Given the description of an element on the screen output the (x, y) to click on. 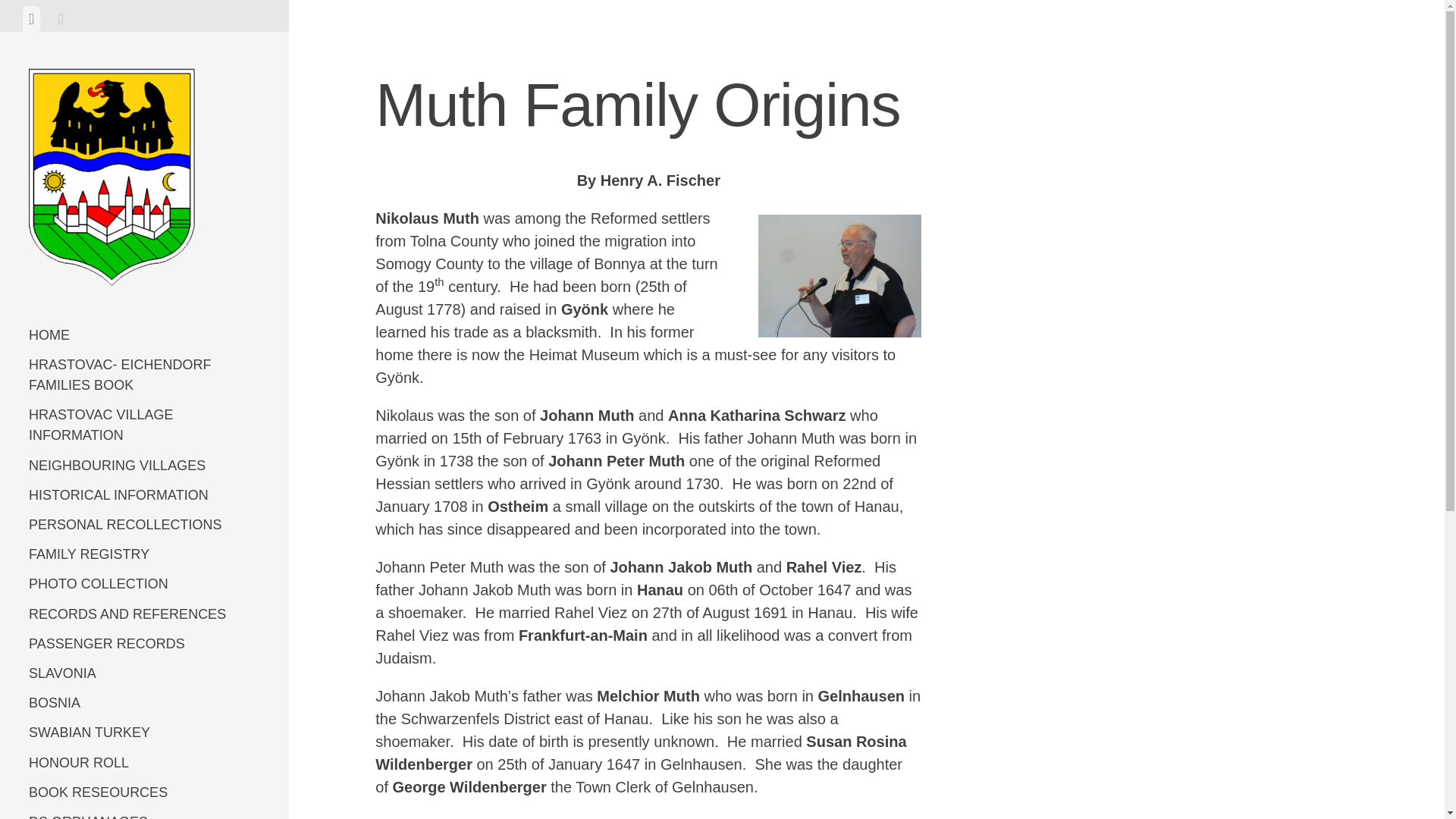
HOME (144, 335)
HISTORICAL INFORMATION (144, 495)
SWABIAN TURKEY (144, 732)
FAMILY REGISTRY (144, 554)
RECORDS AND REFERENCES (144, 613)
BOOK RESEOURCES (144, 792)
HRASTOVAC VILLAGE INFORMATION (144, 425)
PERSONAL RECOLLECTIONS (144, 524)
SLAVONIA (144, 673)
NEIGHBOURING VILLAGES (144, 465)
